Given the description of an element on the screen output the (x, y) to click on. 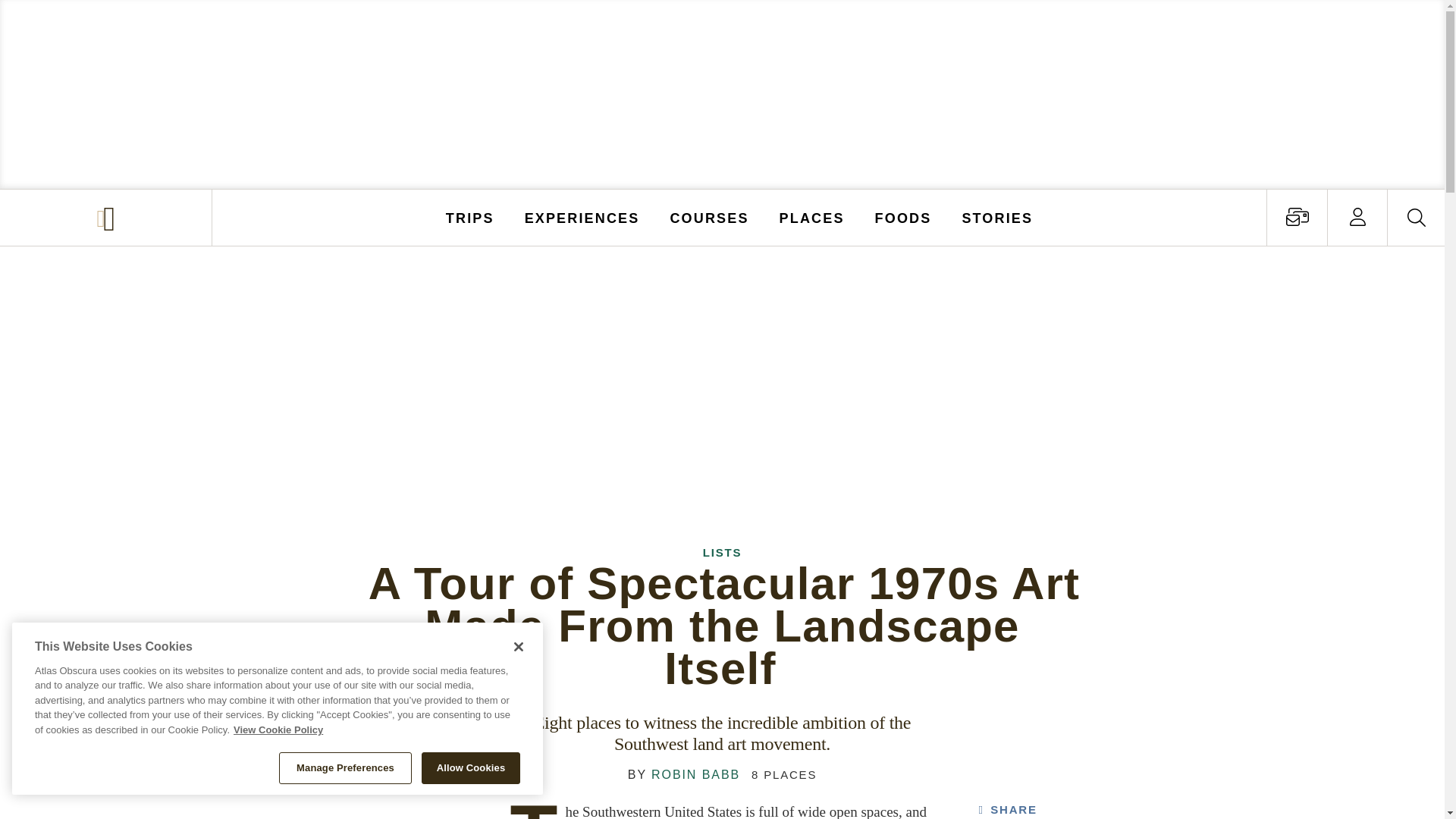
PLACES (812, 217)
EXPERIENCES (582, 217)
COURSES (707, 217)
TRIPS (469, 217)
